Given the description of an element on the screen output the (x, y) to click on. 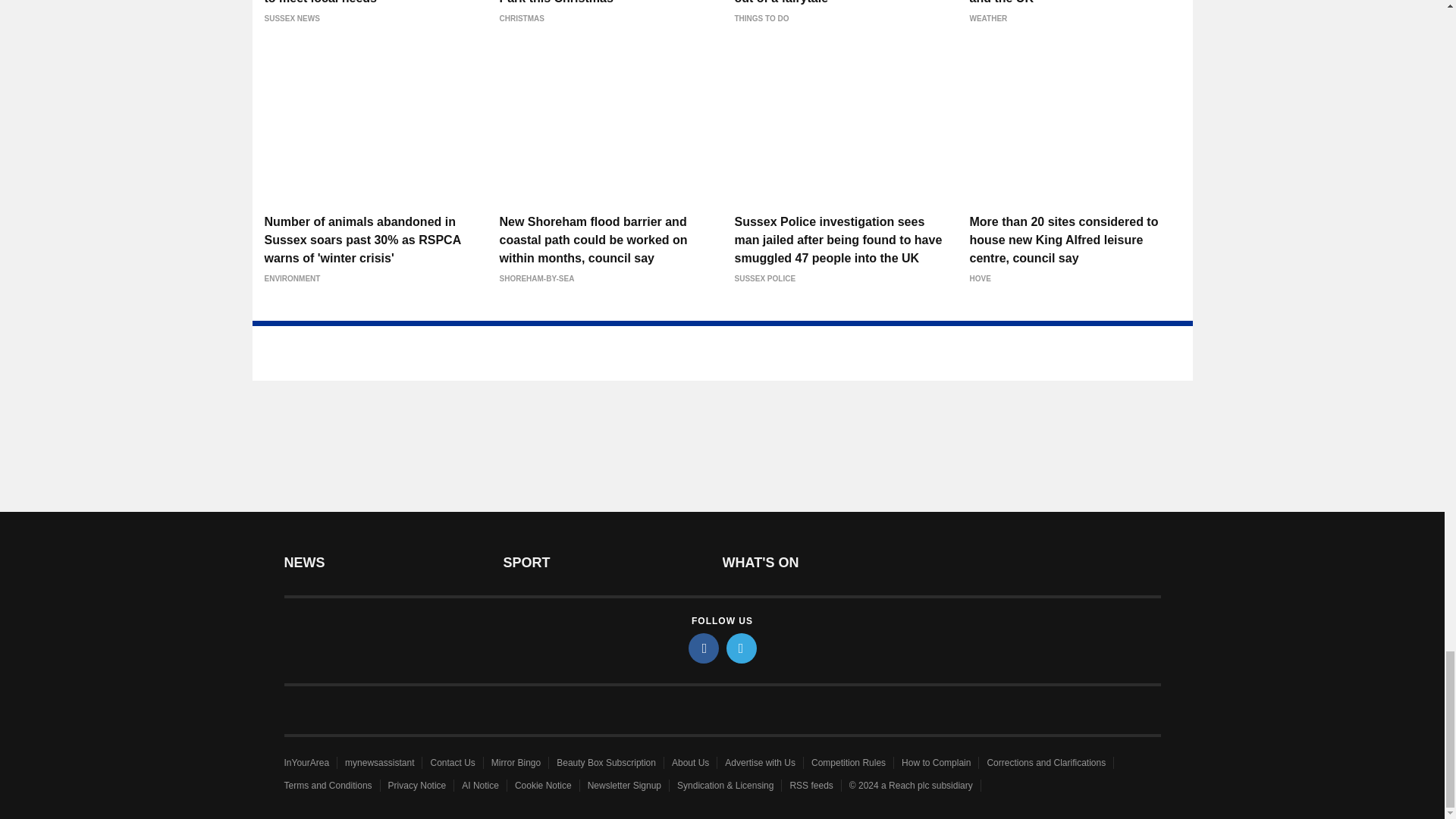
twitter (741, 648)
facebook (703, 648)
